Given the description of an element on the screen output the (x, y) to click on. 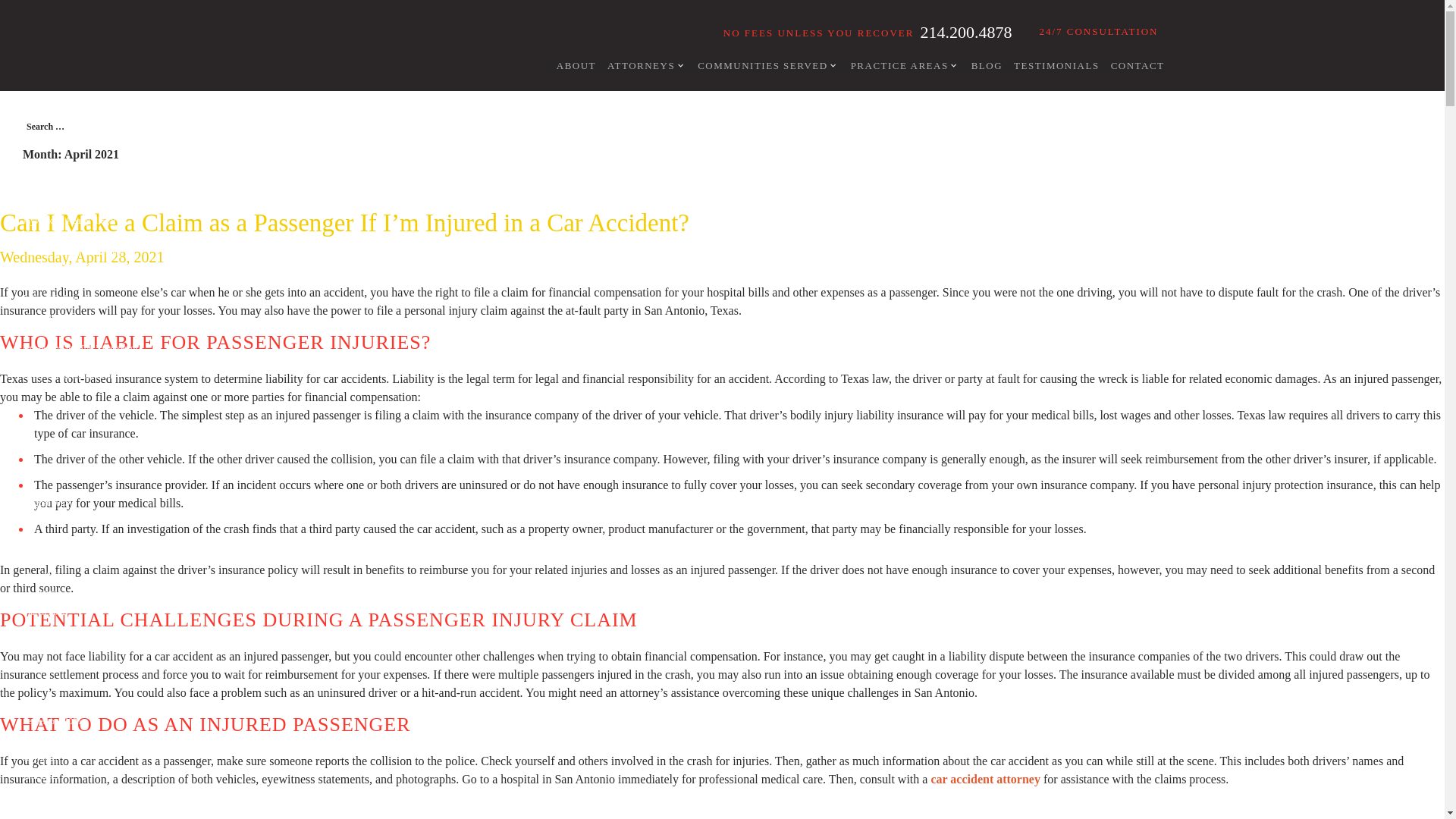
ATTORNEYS (640, 64)
214.200.4878 (965, 32)
ABOUT (569, 64)
COMMUNITIES SERVED (762, 64)
